Given the description of an element on the screen output the (x, y) to click on. 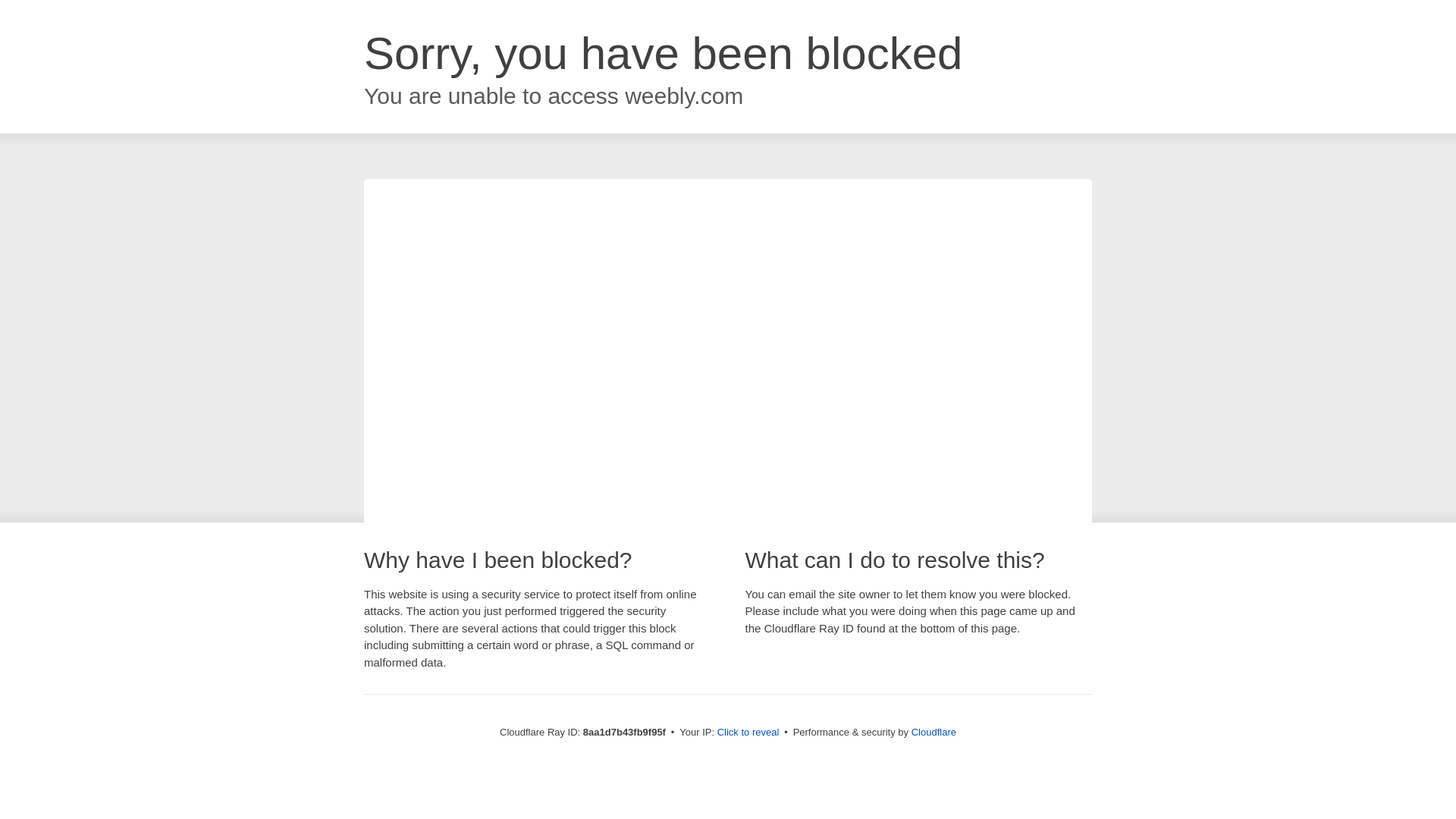
Cloudflare (933, 731)
Click to reveal (747, 732)
